Given the description of an element on the screen output the (x, y) to click on. 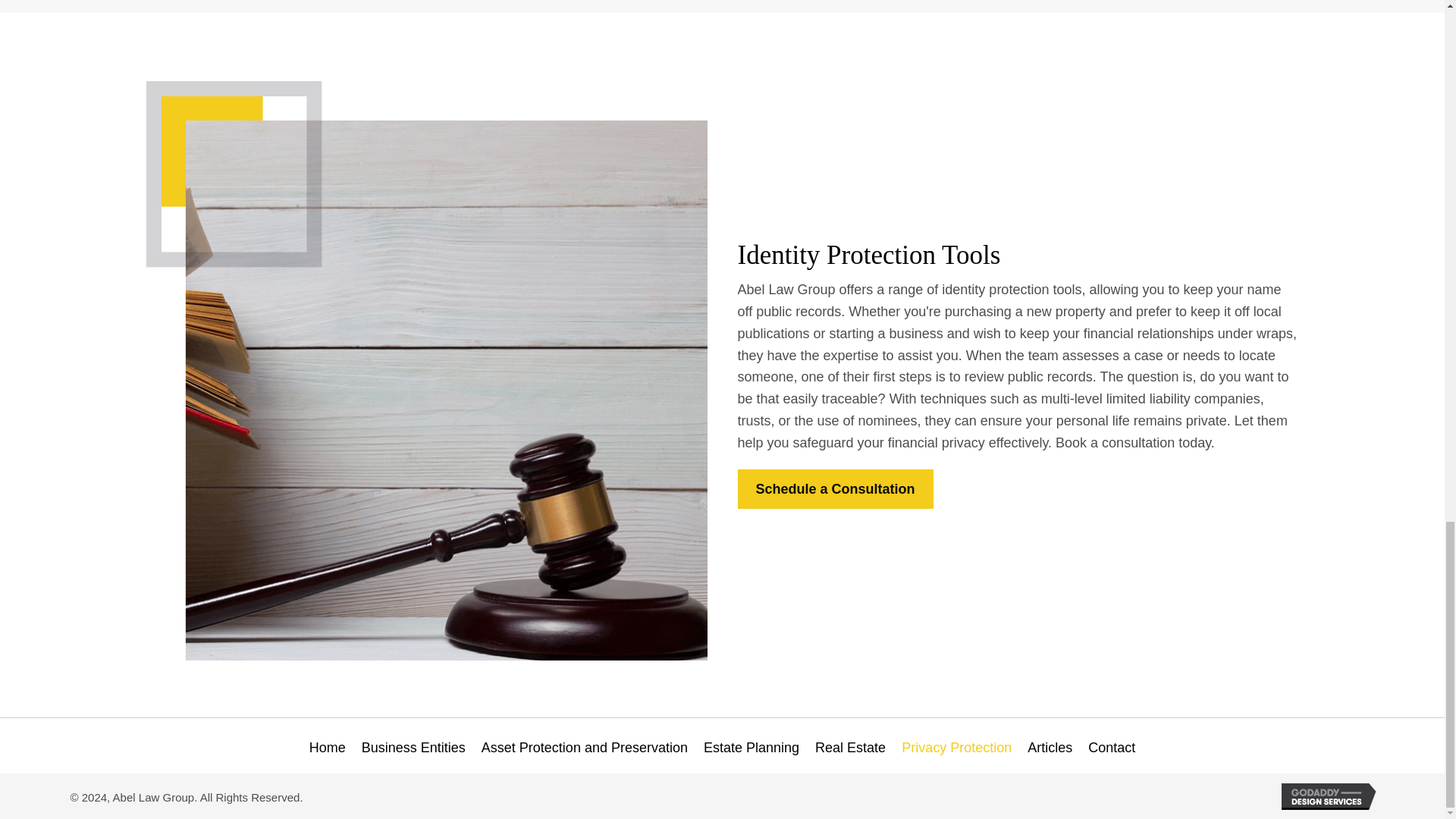
Schedule a Consultation (834, 489)
Articles (1050, 748)
Privacy Protection (956, 748)
Estate Planning (750, 748)
Contact (1111, 748)
Business Entities (413, 748)
Home (327, 748)
Real Estate (850, 748)
Asset Protection and Preservation (584, 748)
